Given the description of an element on the screen output the (x, y) to click on. 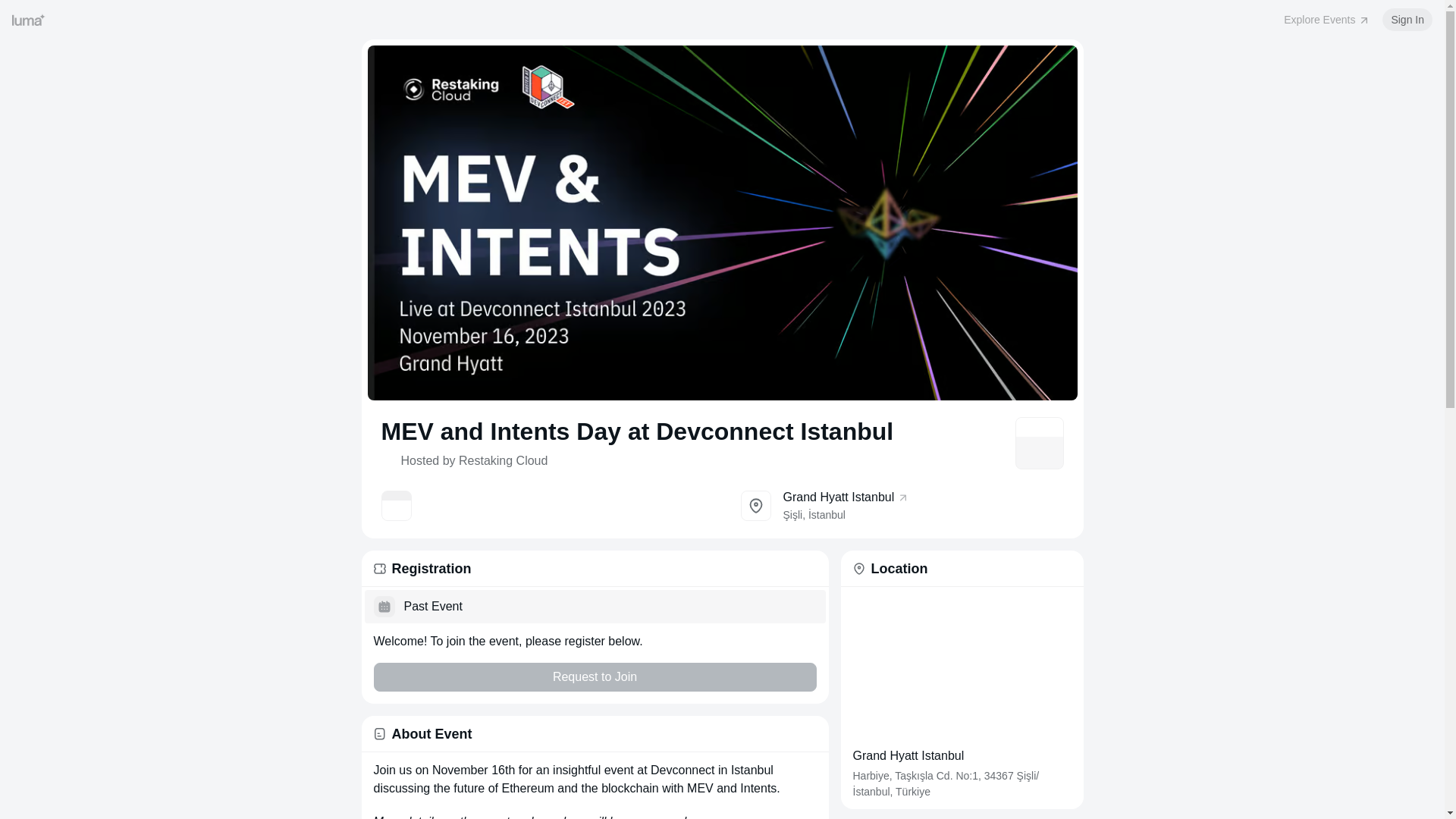
Request to Join (593, 676)
Sign In (1406, 19)
Explore Events (1327, 19)
